Given the description of an element on the screen output the (x, y) to click on. 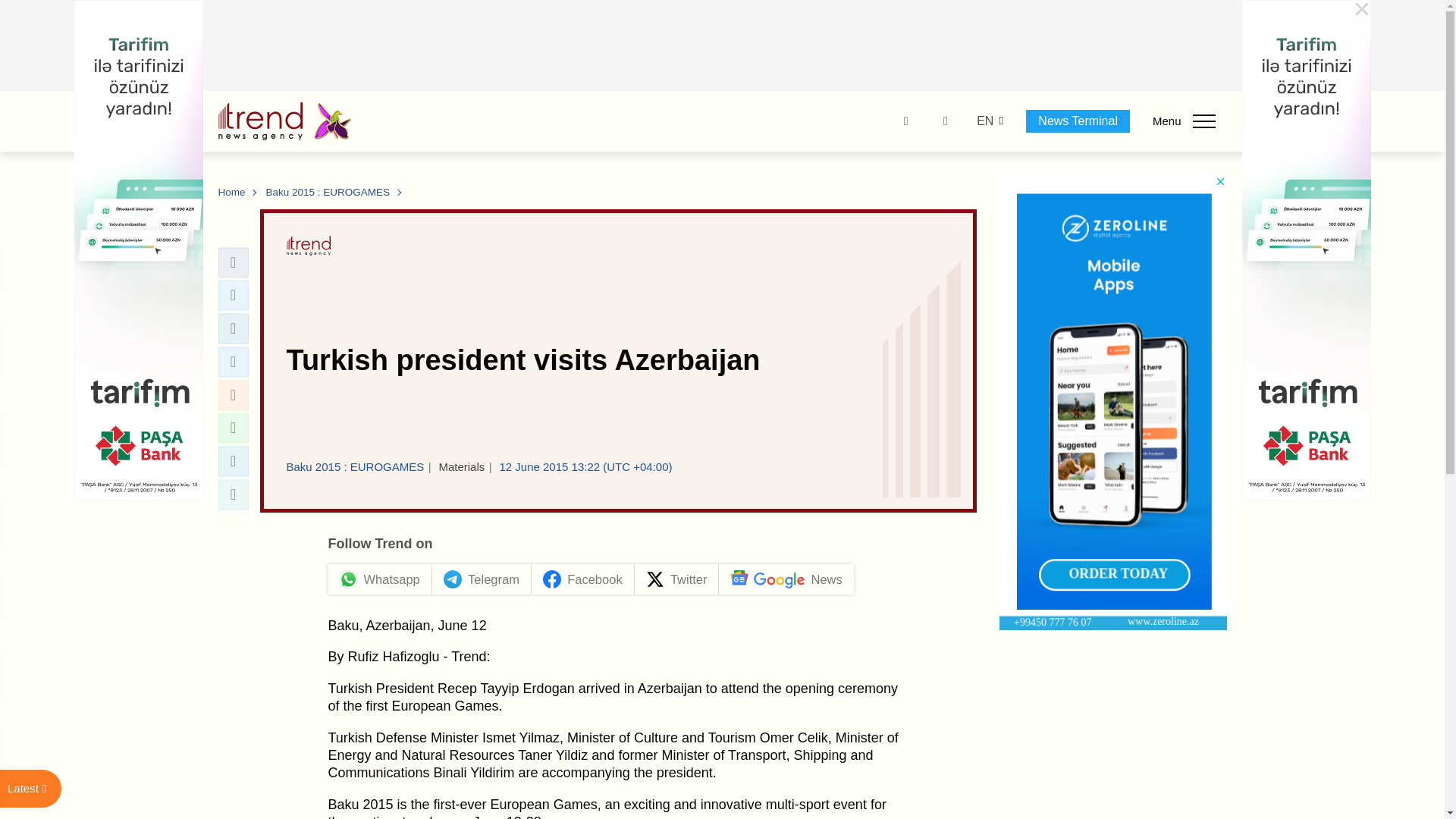
3rd party ad content (722, 45)
English (984, 121)
EN (984, 121)
News Terminal (1077, 120)
